Given the description of an element on the screen output the (x, y) to click on. 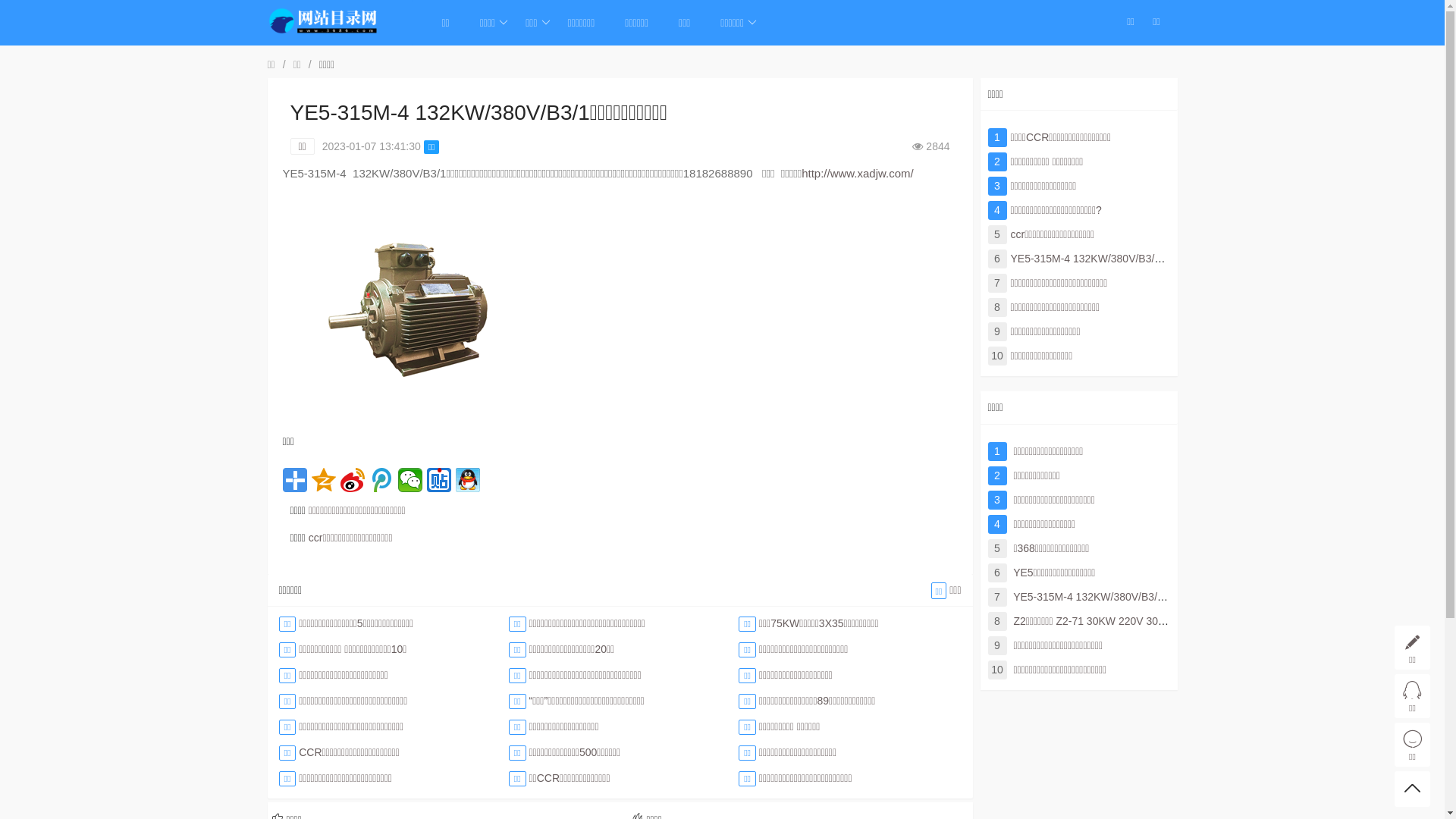
1673070087468331.png Element type: hover (407, 310)
http://www.xadjw.com/ Element type: text (857, 172)
